Given the description of an element on the screen output the (x, y) to click on. 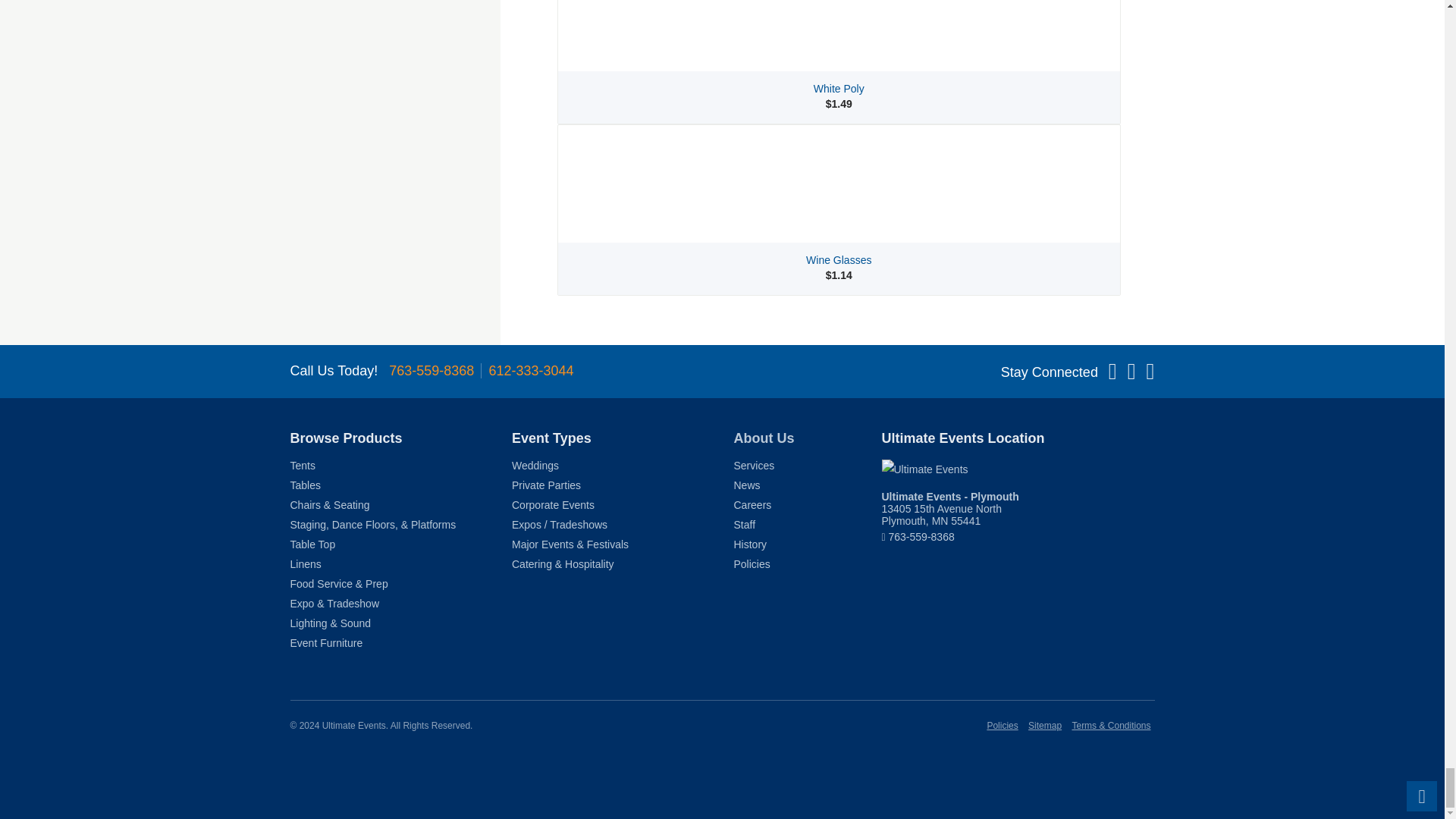
opens new window (1017, 469)
opens new window (948, 508)
